Given the description of an element on the screen output the (x, y) to click on. 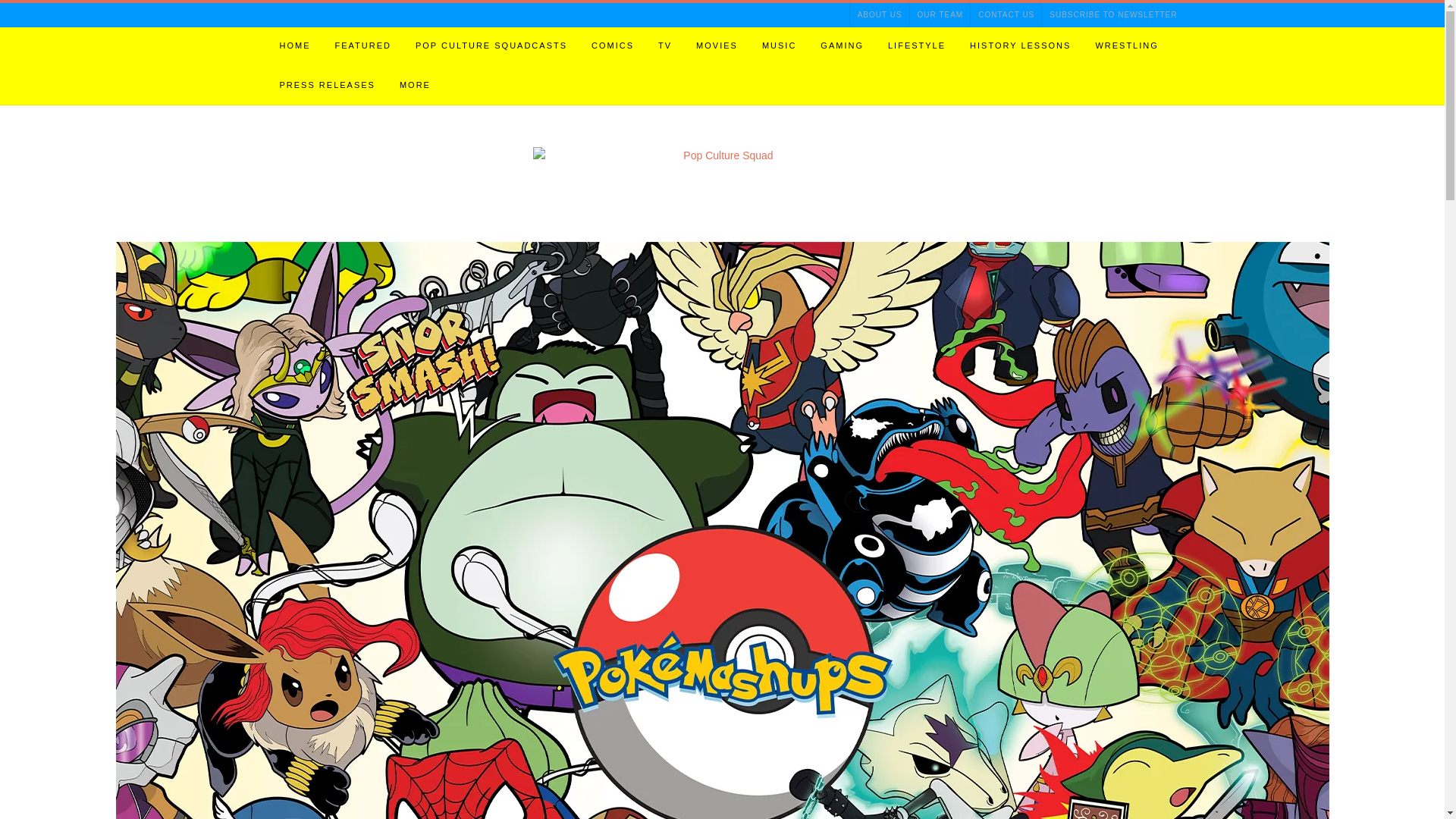
HOME (293, 46)
ABOUT US (880, 14)
POP CULTURE SQUADCASTS (491, 46)
COMICS (612, 46)
FEATURED (363, 46)
SUBSCRIBE TO NEWSLETTER (1109, 14)
CONTACT US (1006, 14)
OUR TEAM (940, 14)
TV (665, 46)
